Given the description of an element on the screen output the (x, y) to click on. 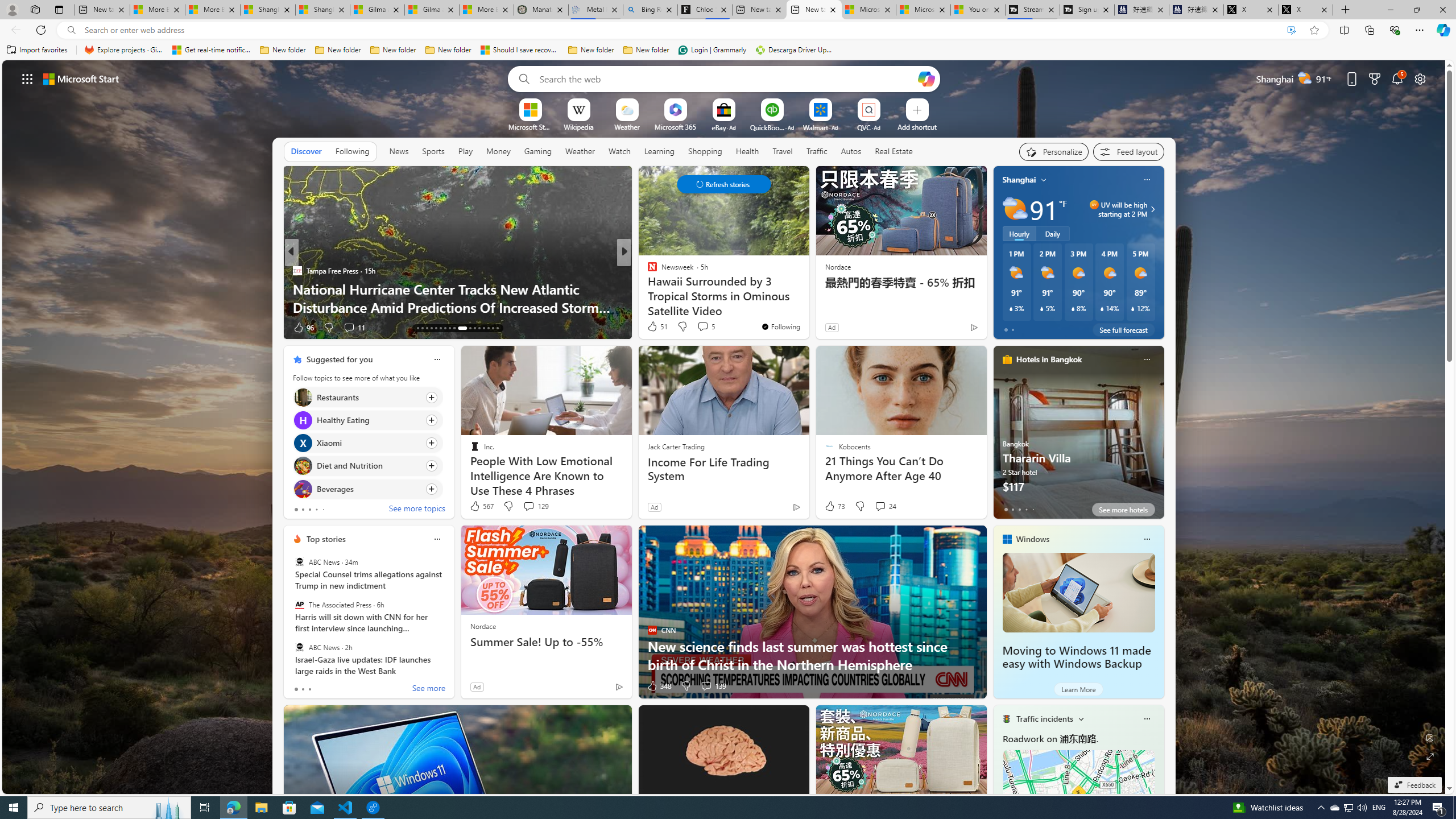
Feed settings (1128, 151)
tab-0 (295, 689)
Moving to Windows 11 made easy with Windows Backup (1076, 657)
AutomationID: tab-21 (435, 328)
Top stories (325, 538)
